Given the description of an element on the screen output the (x, y) to click on. 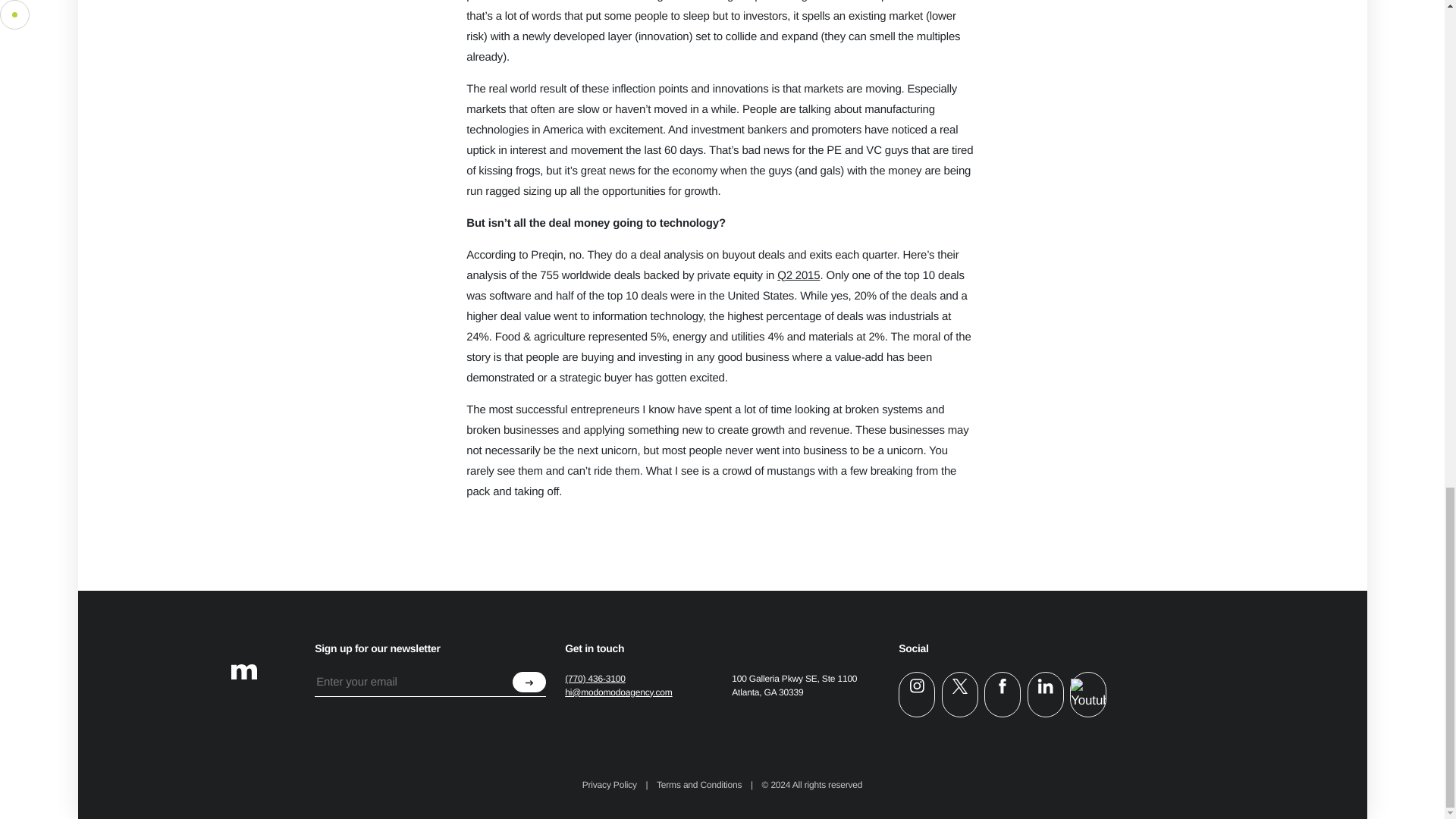
Privacy Policy (609, 784)
Preqin Q2 PE Deals (798, 275)
Q2 2015 (798, 275)
Terms and Conditions (699, 784)
